Given the description of an element on the screen output the (x, y) to click on. 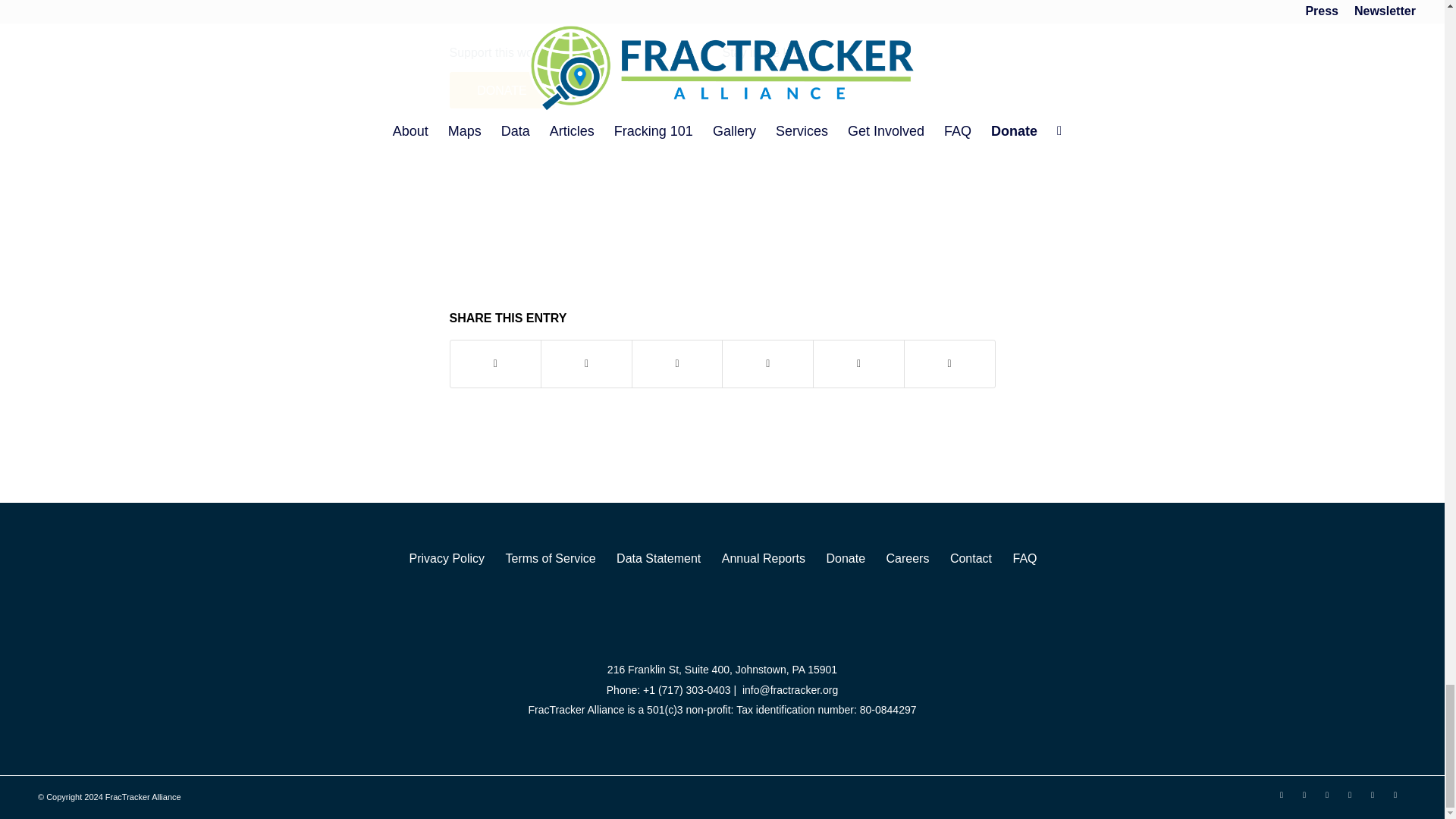
Twitter (1280, 793)
Facebook (1304, 793)
LinkedIn (1327, 793)
